Given the description of an element on the screen output the (x, y) to click on. 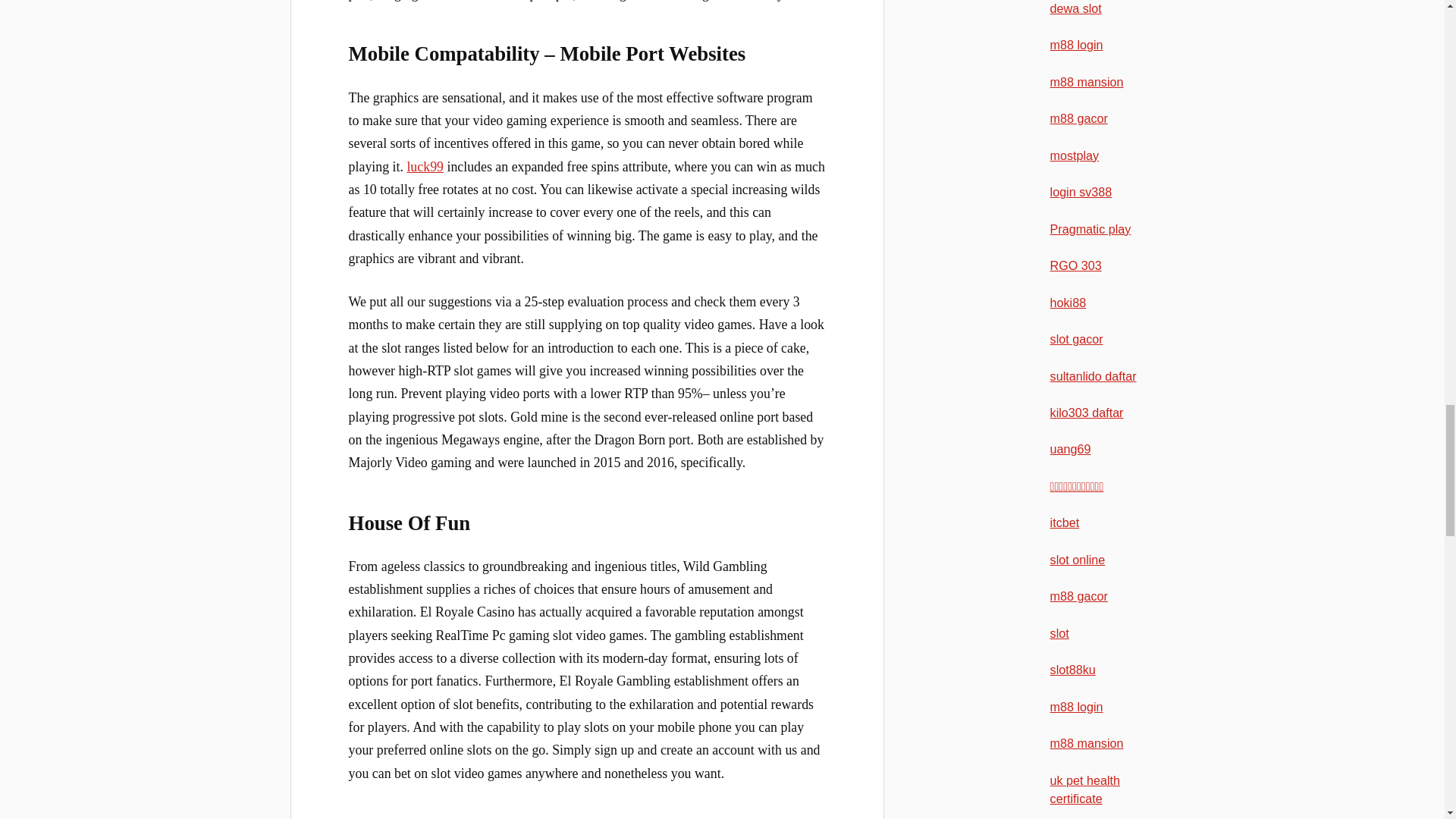
luck99 (425, 166)
